Given the description of an element on the screen output the (x, y) to click on. 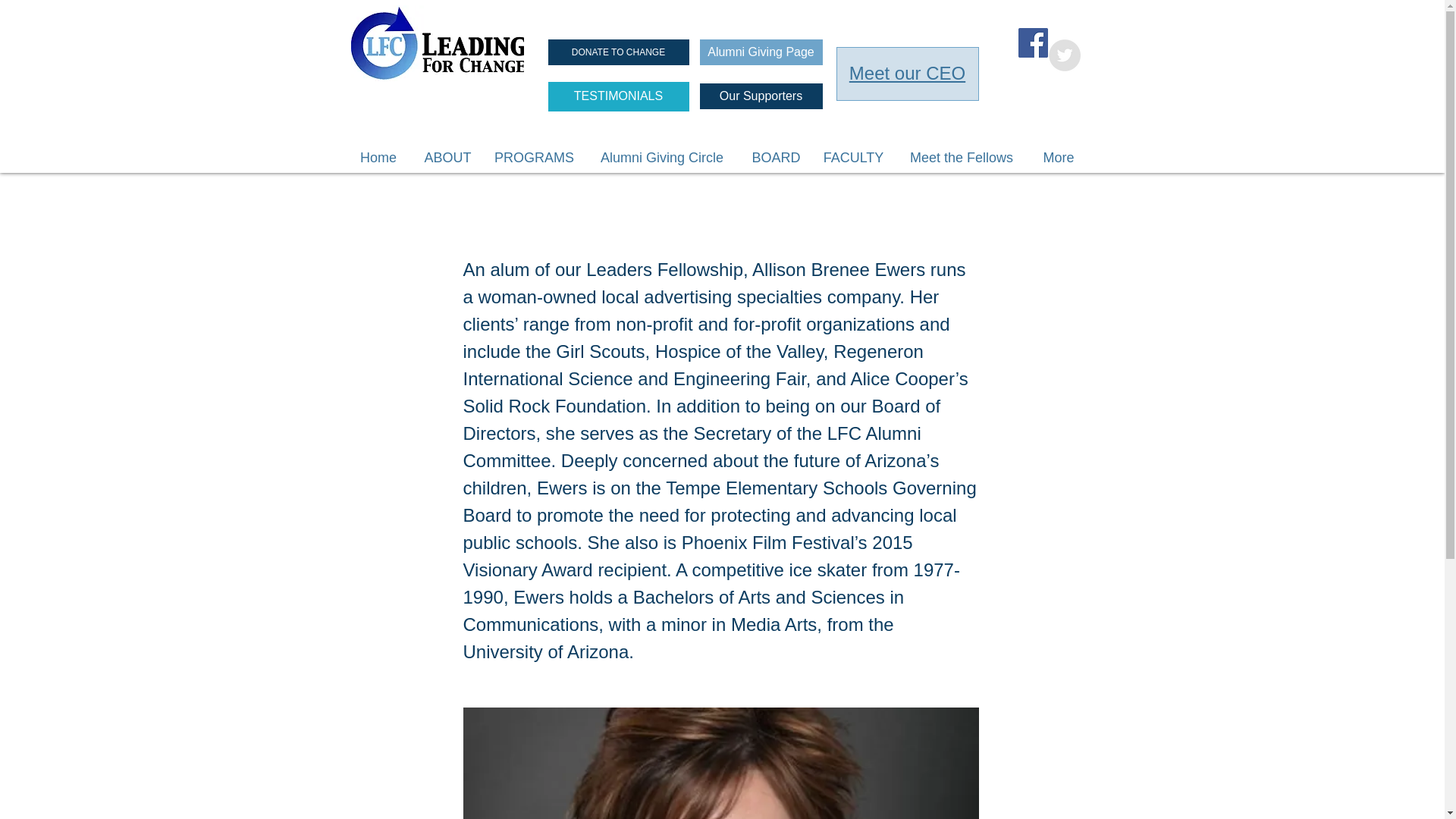
TESTIMONIALS (617, 96)
PROGRAMS (533, 157)
Alumni Giving Page (760, 52)
DONATE TO CHANGE (617, 52)
Home (379, 157)
FACULTY (853, 157)
ABOUT (446, 157)
Alumni Giving Circle (661, 157)
Meet our CEO (906, 73)
BOARD (775, 157)
Our Supporters (760, 95)
Allison Brenee Ewers (720, 763)
Meet the Fellows (962, 157)
